Given the description of an element on the screen output the (x, y) to click on. 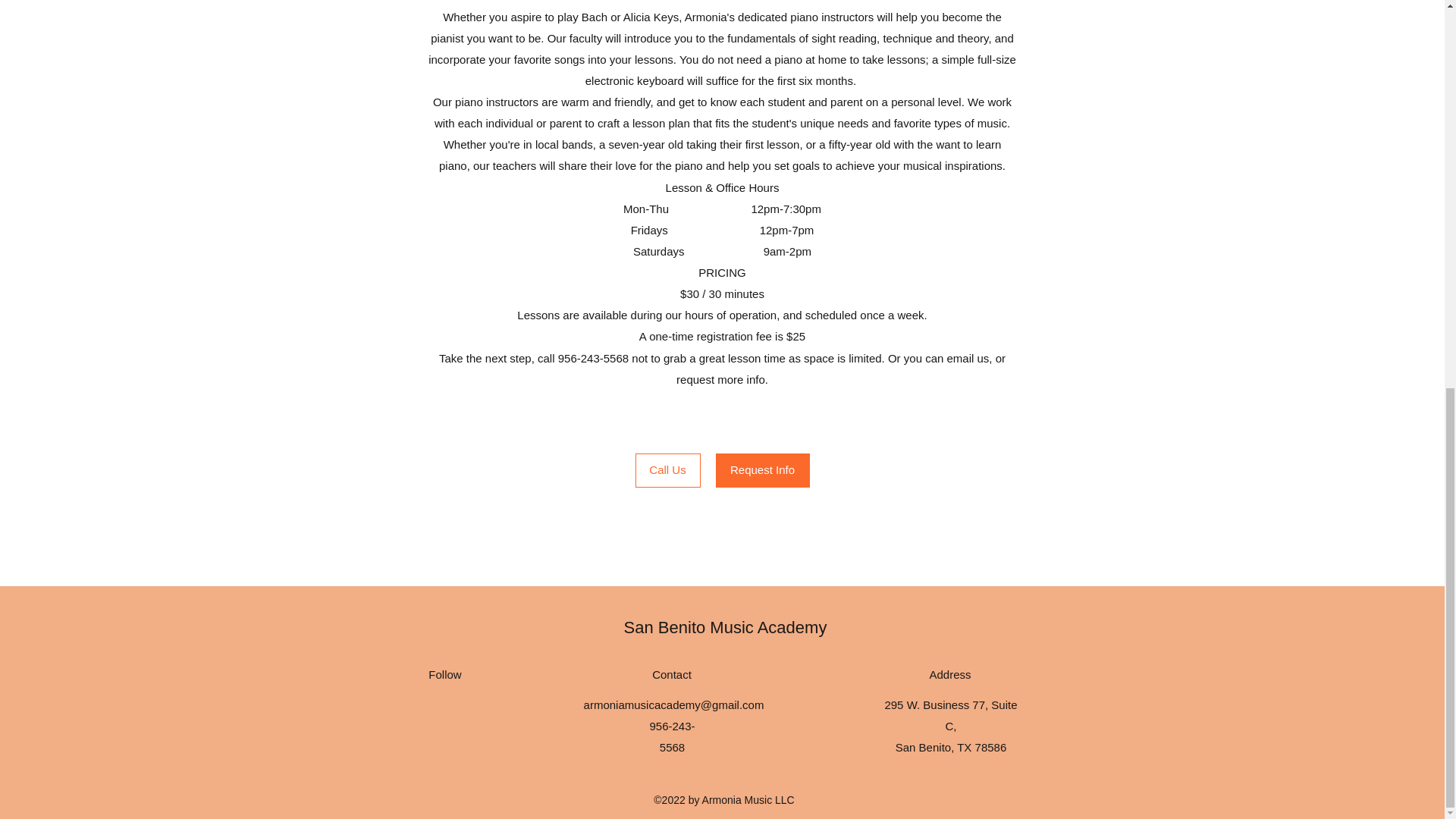
Call Us (667, 470)
Request Info (762, 470)
